Given the description of an element on the screen output the (x, y) to click on. 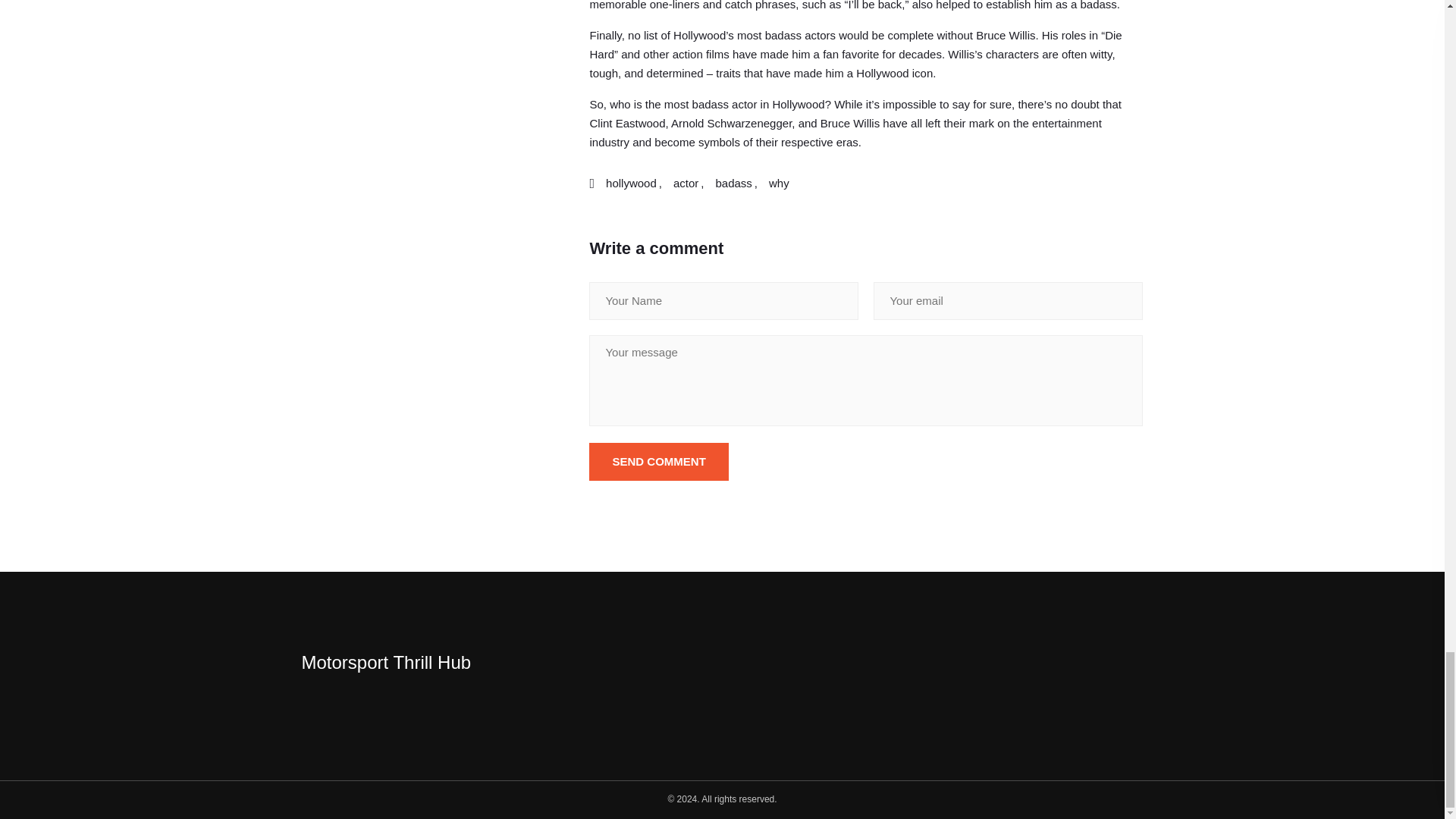
hollywood (630, 183)
Send Comment (658, 461)
why (778, 183)
badass (732, 183)
Send Comment (658, 461)
actor (685, 183)
